Given the description of an element on the screen output the (x, y) to click on. 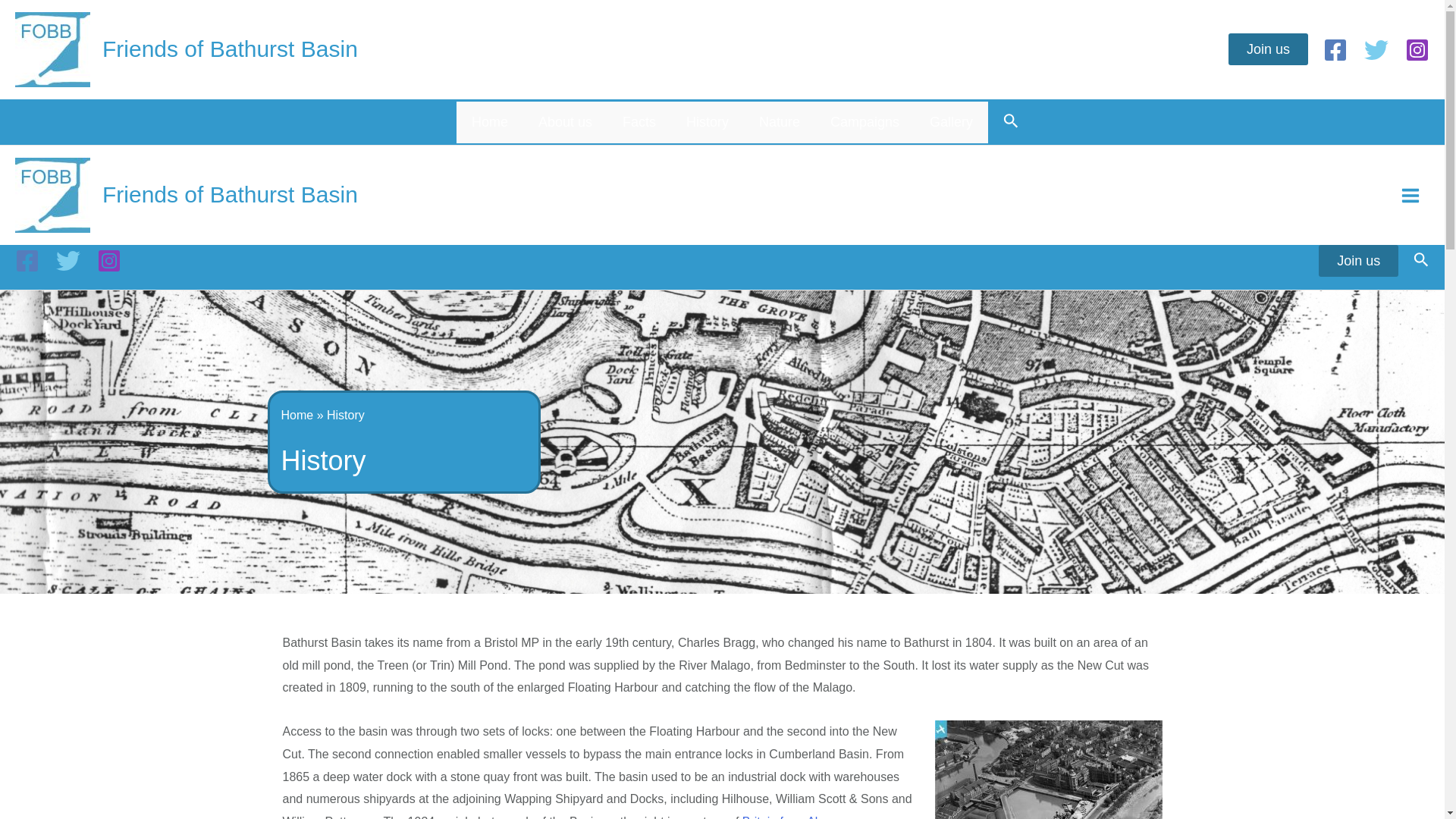
Join us (1358, 260)
Britain from Above. (793, 816)
Home (489, 122)
About us (564, 122)
History (707, 122)
Main Menu (1410, 194)
Friends of Bathurst Basin (229, 194)
Facts (639, 122)
Campaigns (864, 122)
Join us (1267, 49)
